Given the description of an element on the screen output the (x, y) to click on. 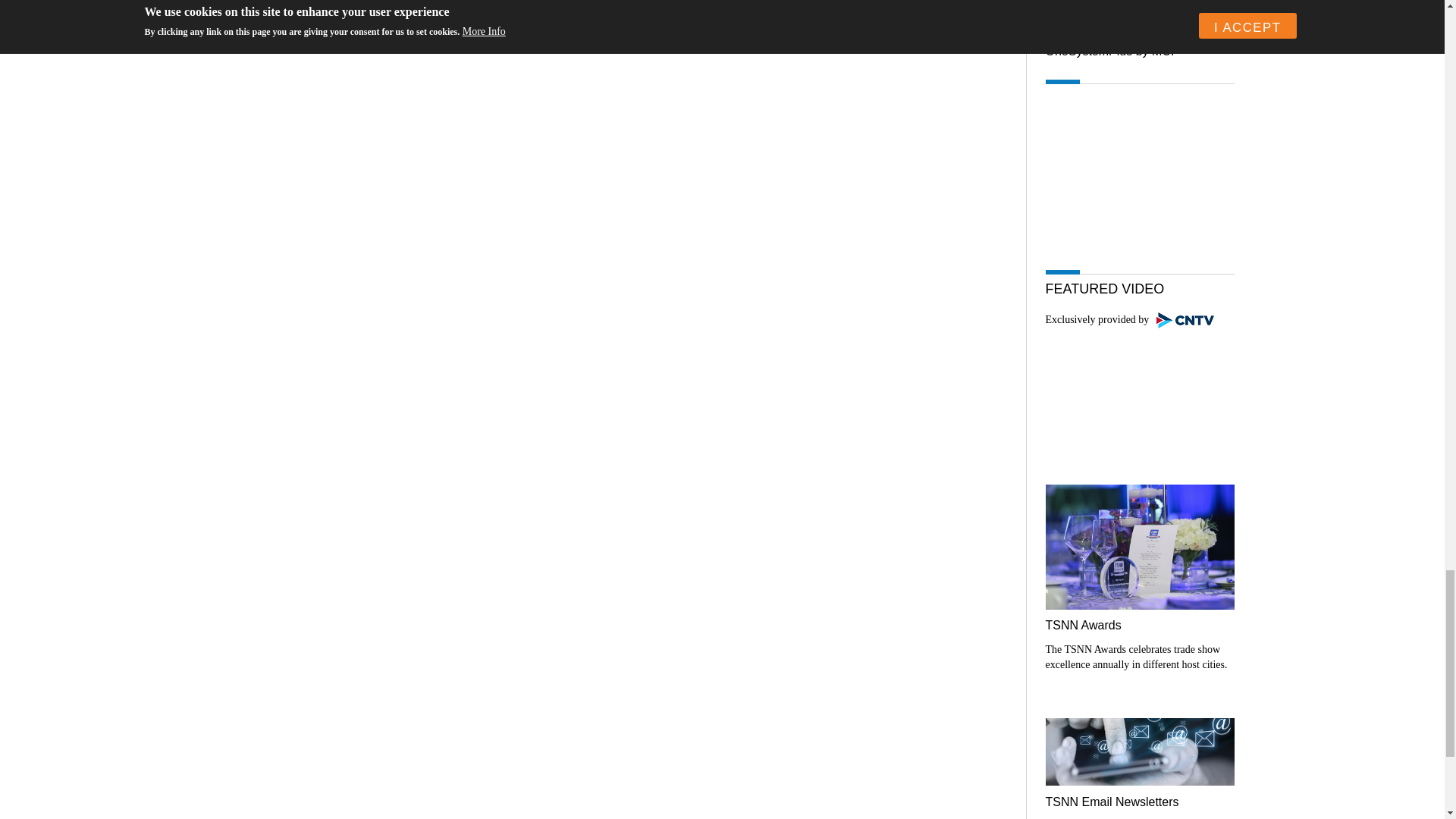
3rd party ad content (1139, 163)
vimeo-player (1139, 392)
3rd party ad content (1139, 13)
